Given the description of an element on the screen output the (x, y) to click on. 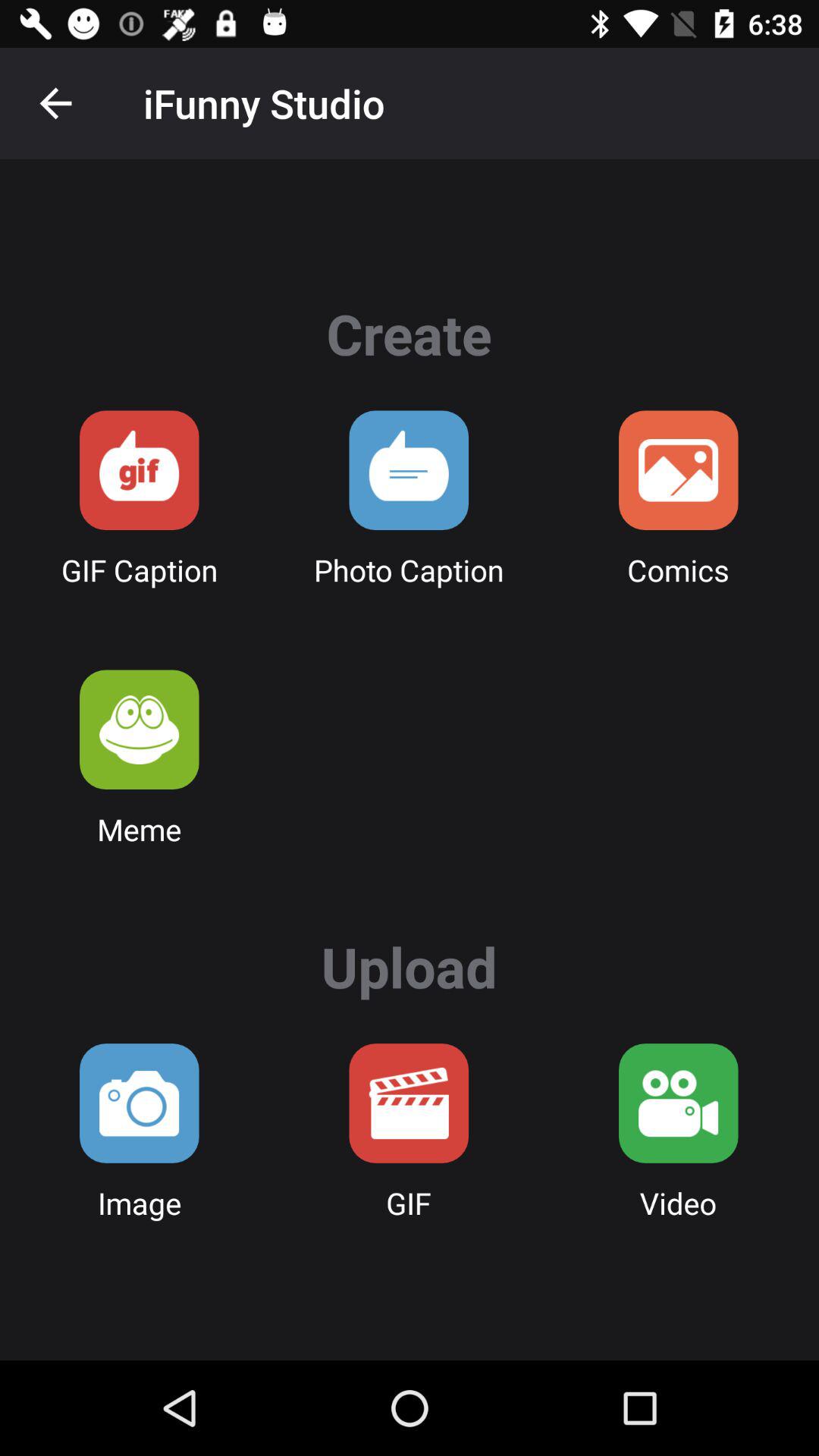
click to upload (408, 1103)
